Given the description of an element on the screen output the (x, y) to click on. 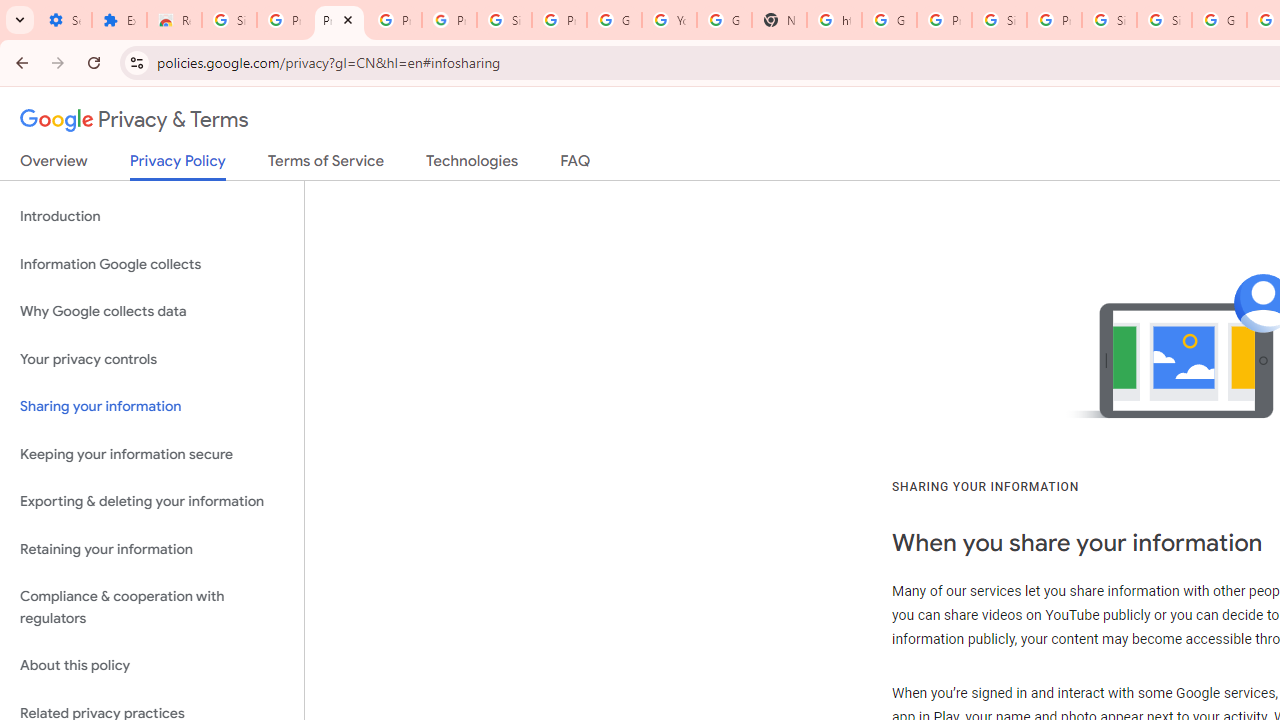
New Tab (779, 20)
